Given the description of an element on the screen output the (x, y) to click on. 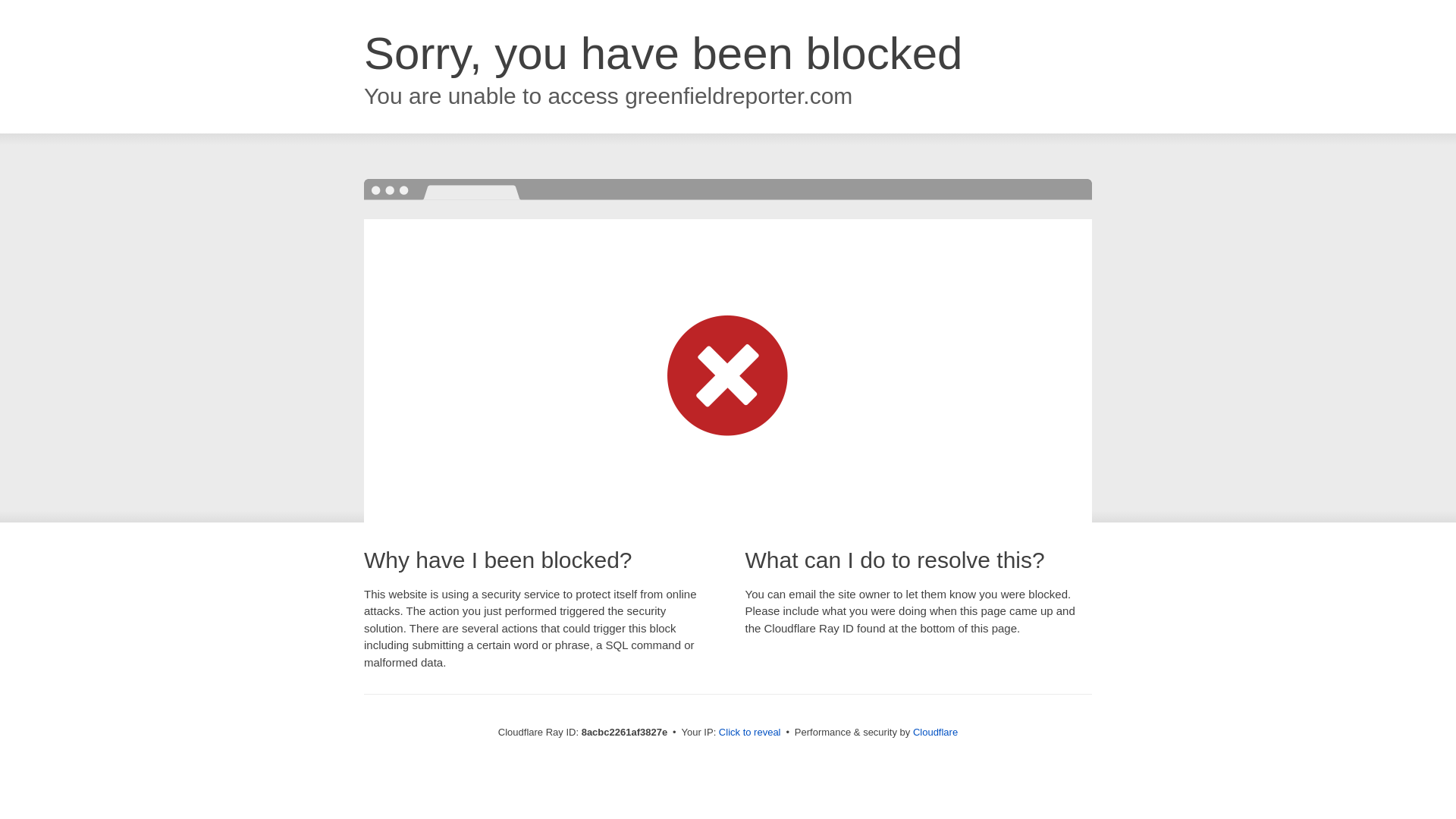
Click to reveal (749, 732)
Cloudflare (935, 731)
